Given the description of an element on the screen output the (x, y) to click on. 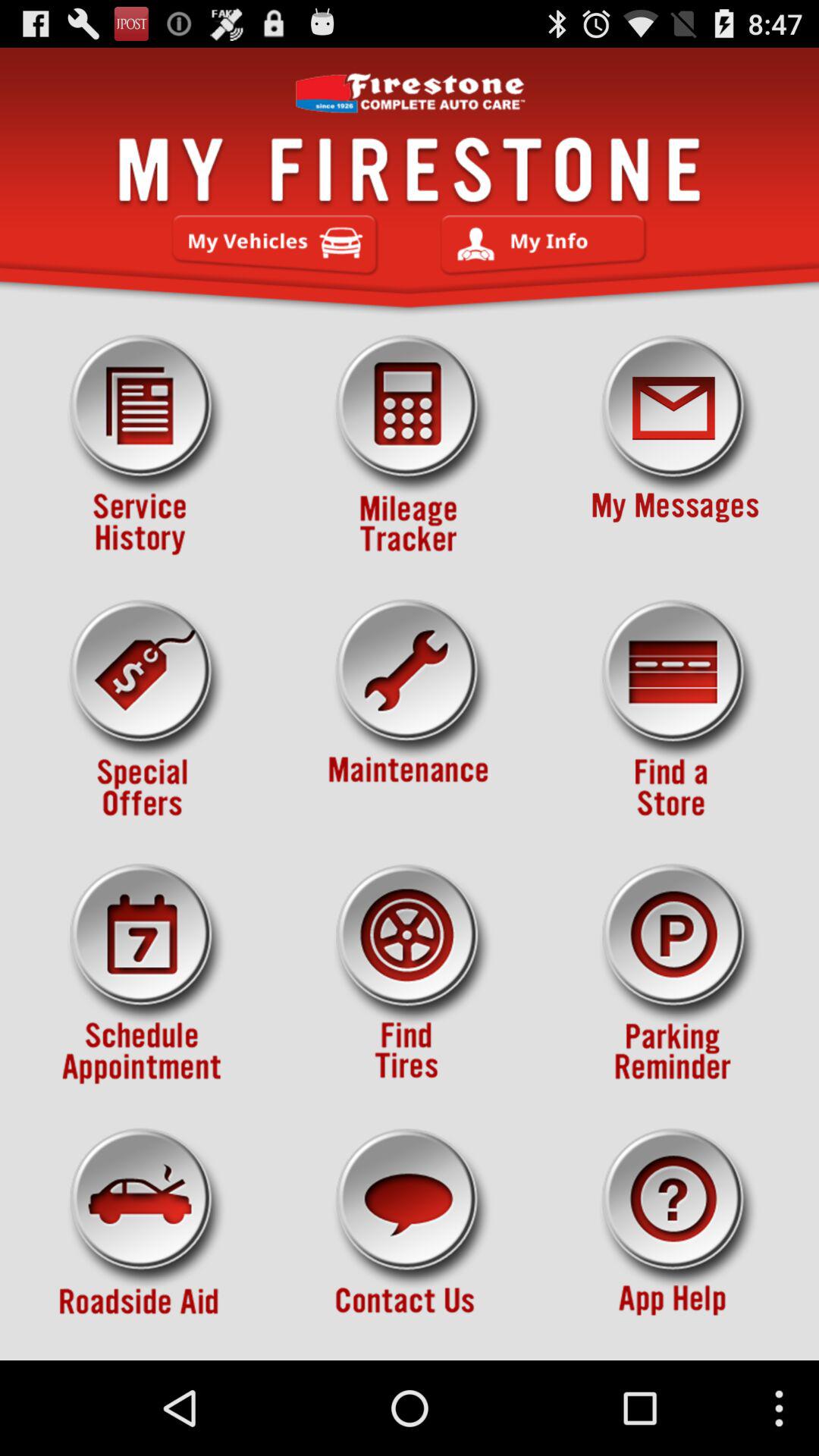
turn on icon on the left (143, 709)
